Given the description of an element on the screen output the (x, y) to click on. 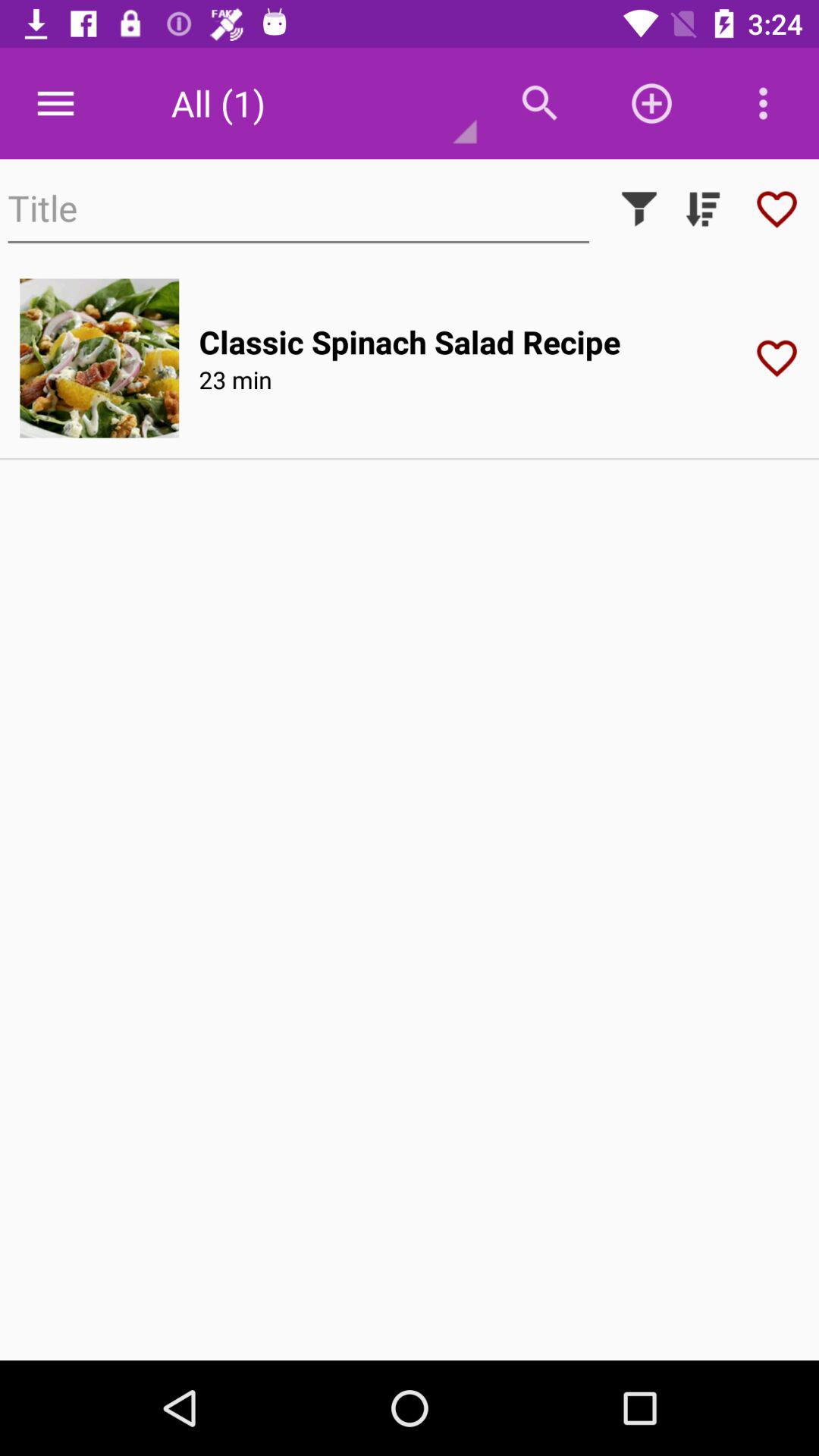
click the icon to the left of classic spinach salad item (99, 357)
